Given the description of an element on the screen output the (x, y) to click on. 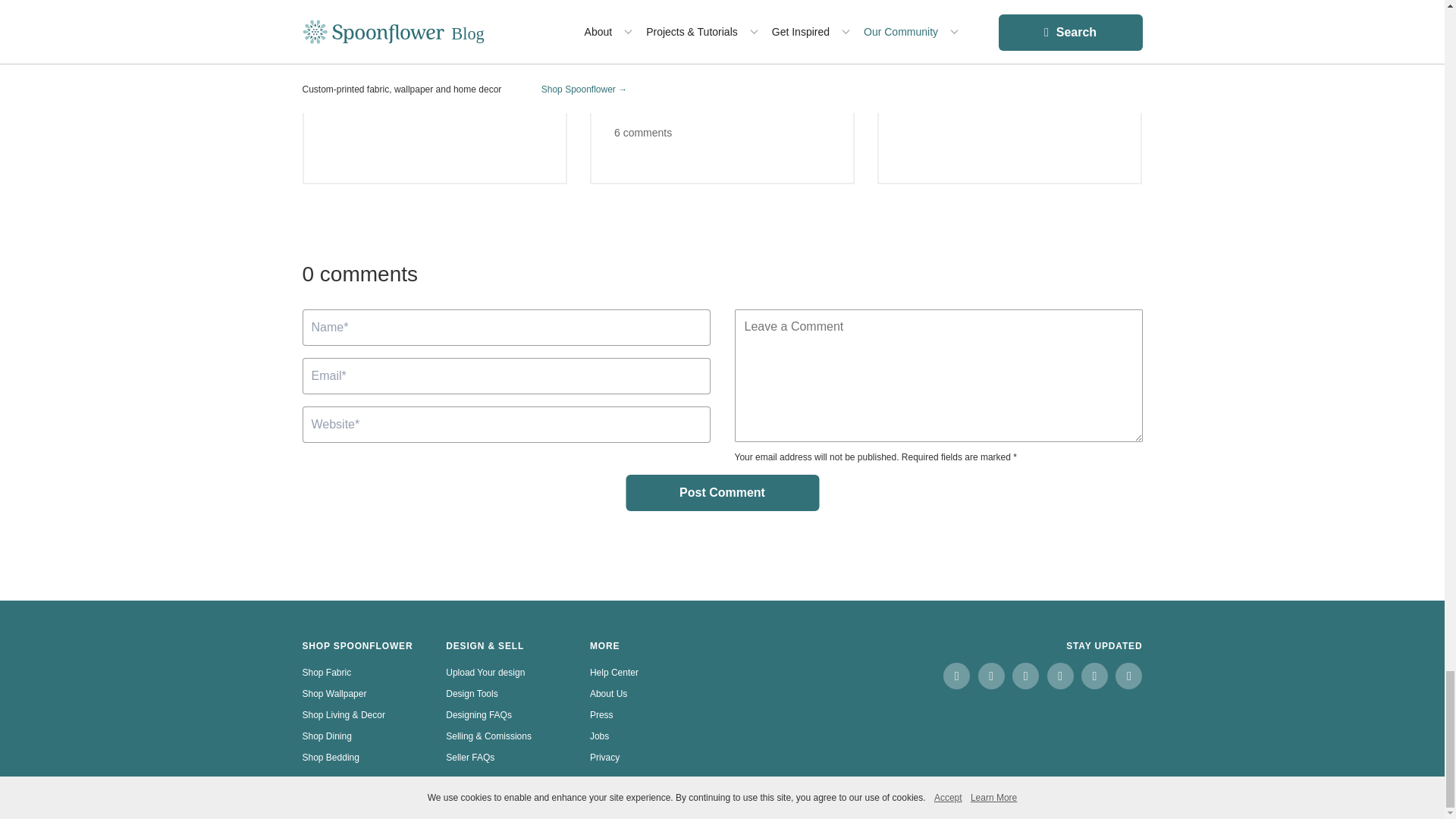
Post Comment (722, 493)
